Given the description of an element on the screen output the (x, y) to click on. 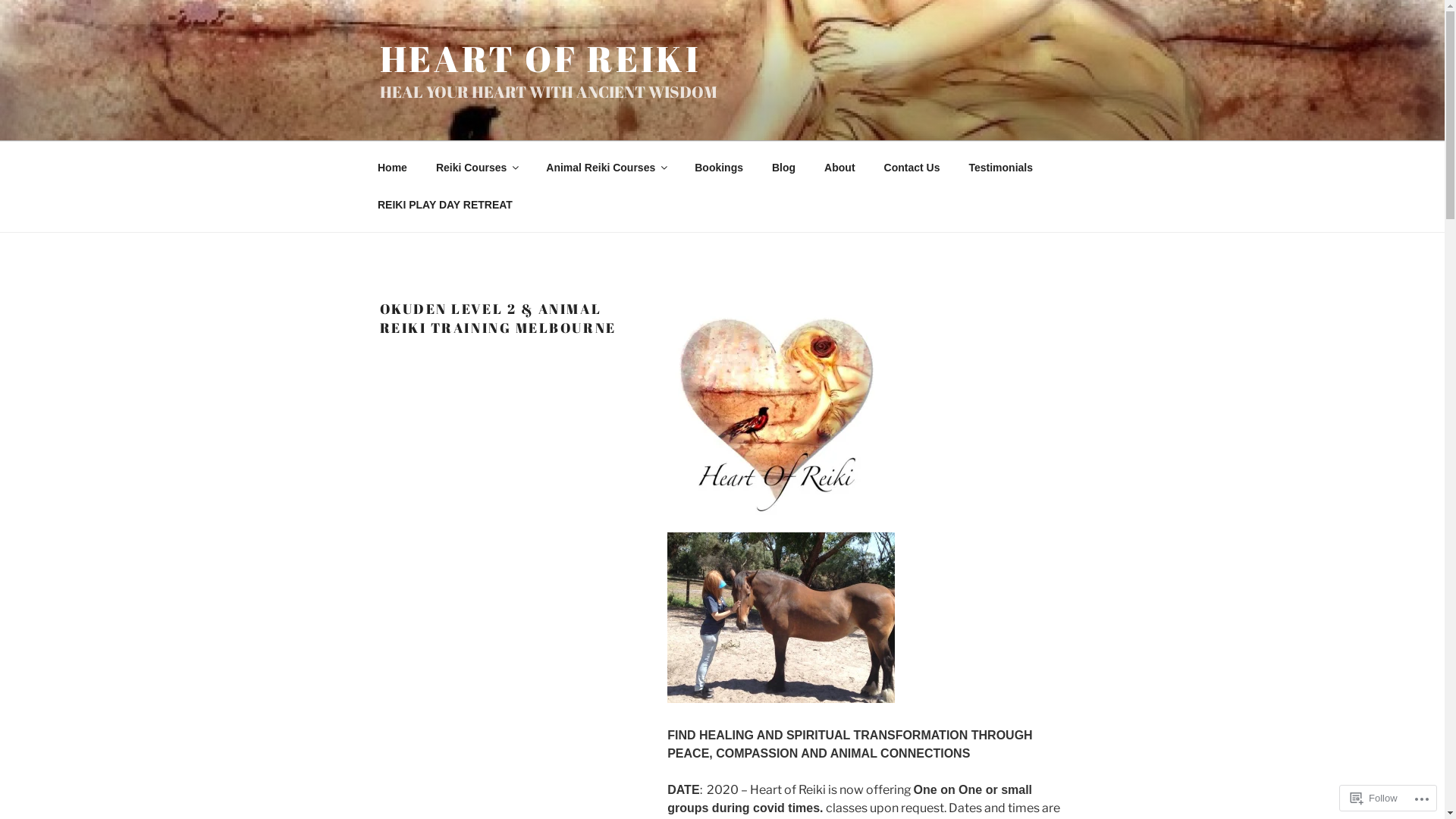
Reiki Courses Element type: text (476, 167)
Home Element type: text (392, 167)
Follow Element type: text (1373, 797)
Blog Element type: text (783, 167)
Animal Reiki Courses Element type: text (606, 167)
About Element type: text (839, 167)
Testimonials Element type: text (1000, 167)
Contact Us Element type: text (911, 167)
Bookings Element type: text (718, 167)
REIKI PLAY DAY RETREAT Element type: text (444, 204)
HEART OF REIKI Element type: text (539, 58)
